Given the description of an element on the screen output the (x, y) to click on. 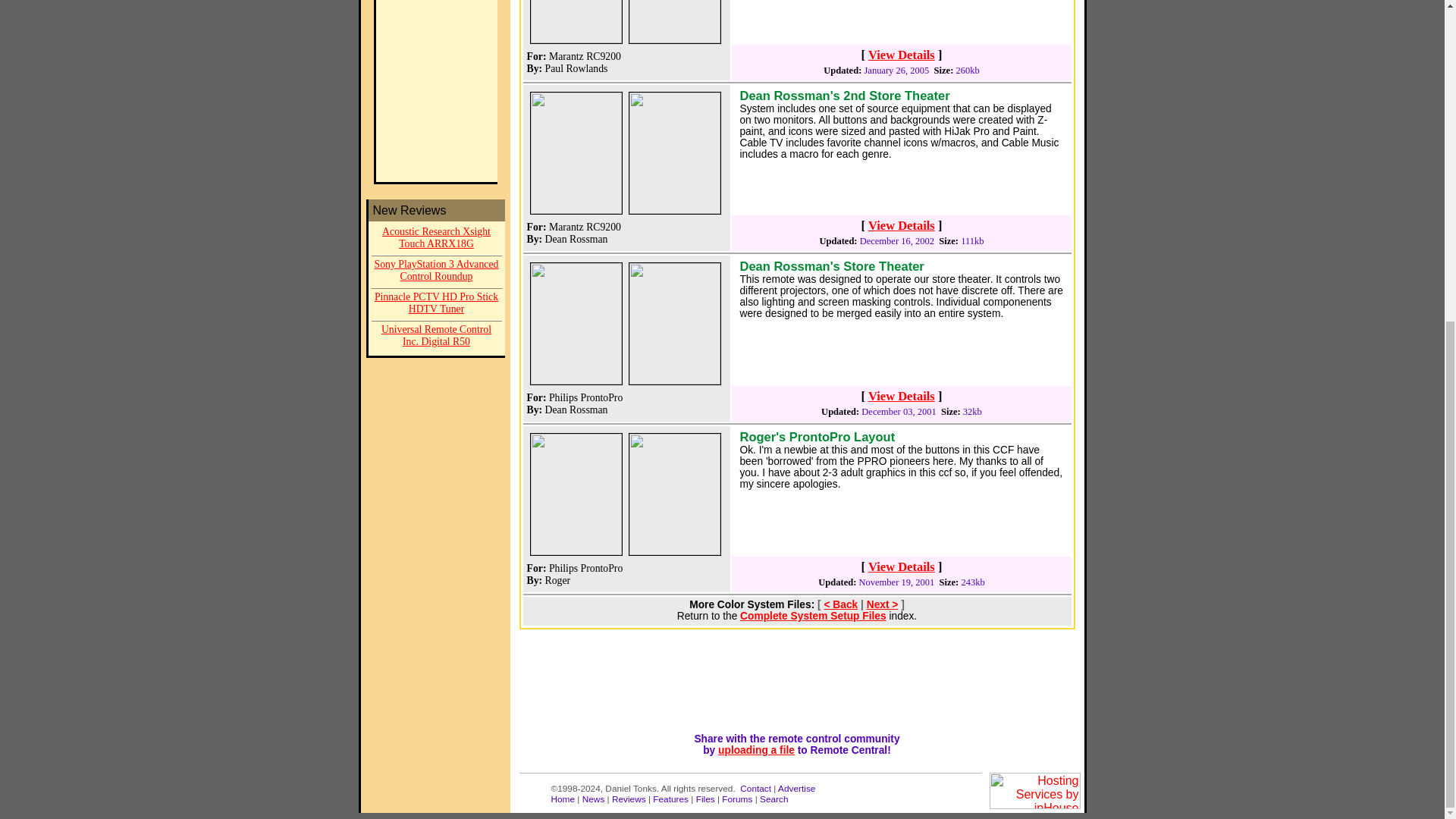
Pinnacle PCTV HD Pro Stick HDTV Tuner (436, 304)
Universal Remote Control Inc. Digital R50 (436, 336)
Sony PlayStation 3 Advanced Control Roundup (436, 271)
Acoustic Research Xsight Touch ARRX18G (436, 238)
